Given the description of an element on the screen output the (x, y) to click on. 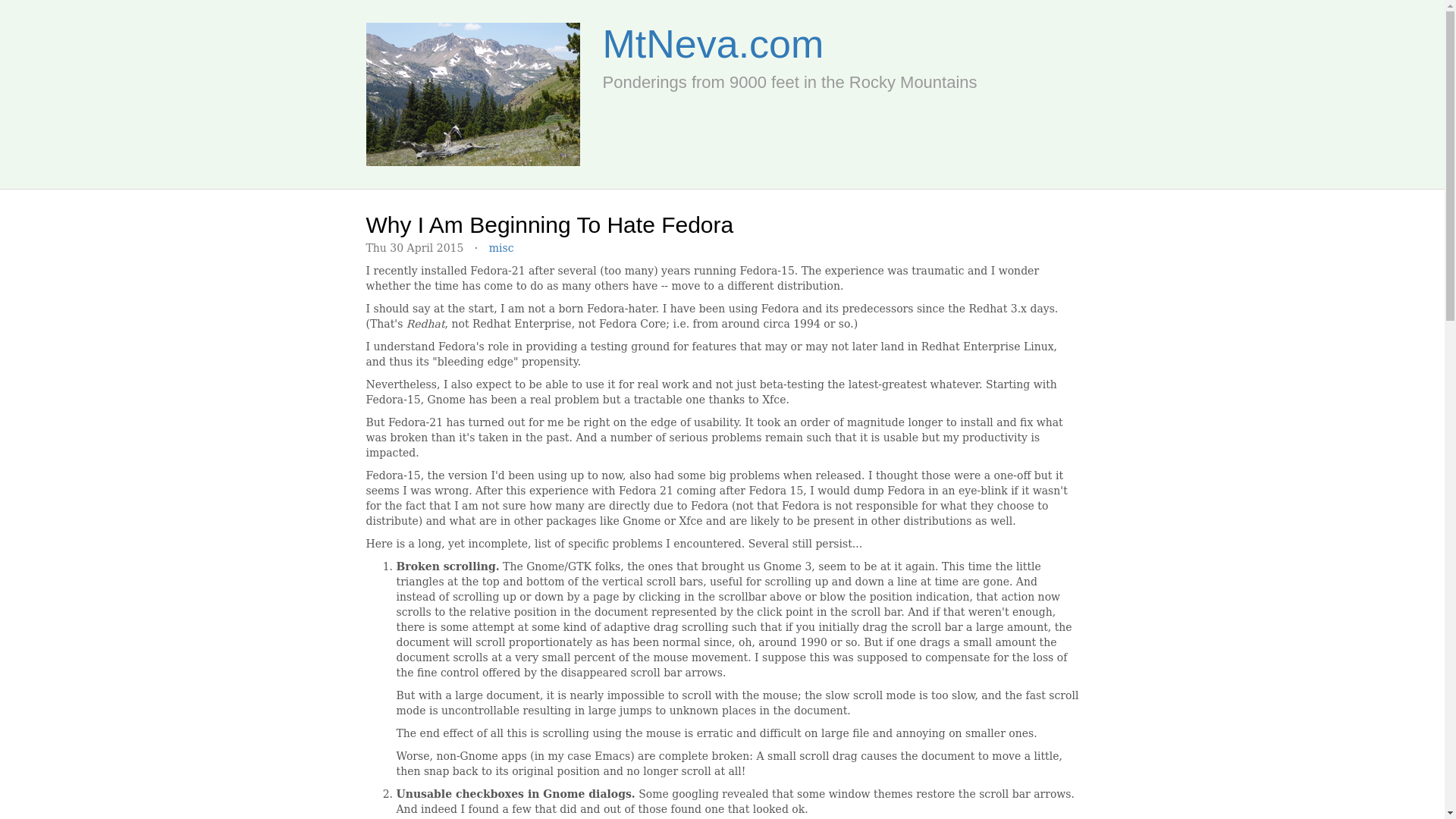
Thu 30 April 2015 (414, 247)
misc (501, 247)
Mt. Neva from near Bald Mountain, Nederland, Colorado. (472, 94)
Permalink to Why I Am Beginning To Hate Fedora (549, 224)
MtNeva.com (713, 44)
Why I Am Beginning To Hate Fedora (549, 224)
2015-04-30T21:17:00-06:00 (414, 247)
